Given the description of an element on the screen output the (x, y) to click on. 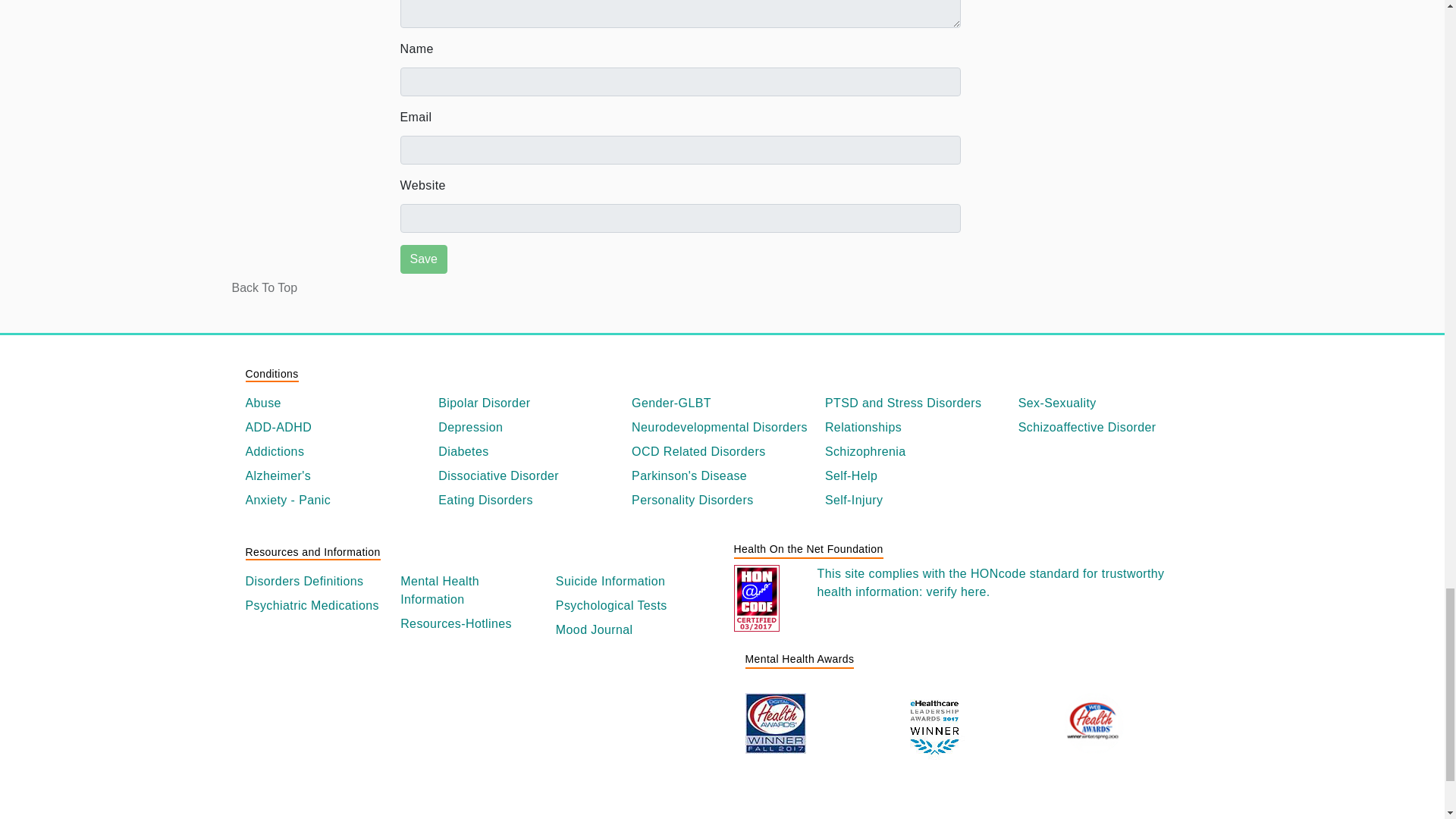
Parkinson's Disease Information Articles (721, 475)
